Given the description of an element on the screen output the (x, y) to click on. 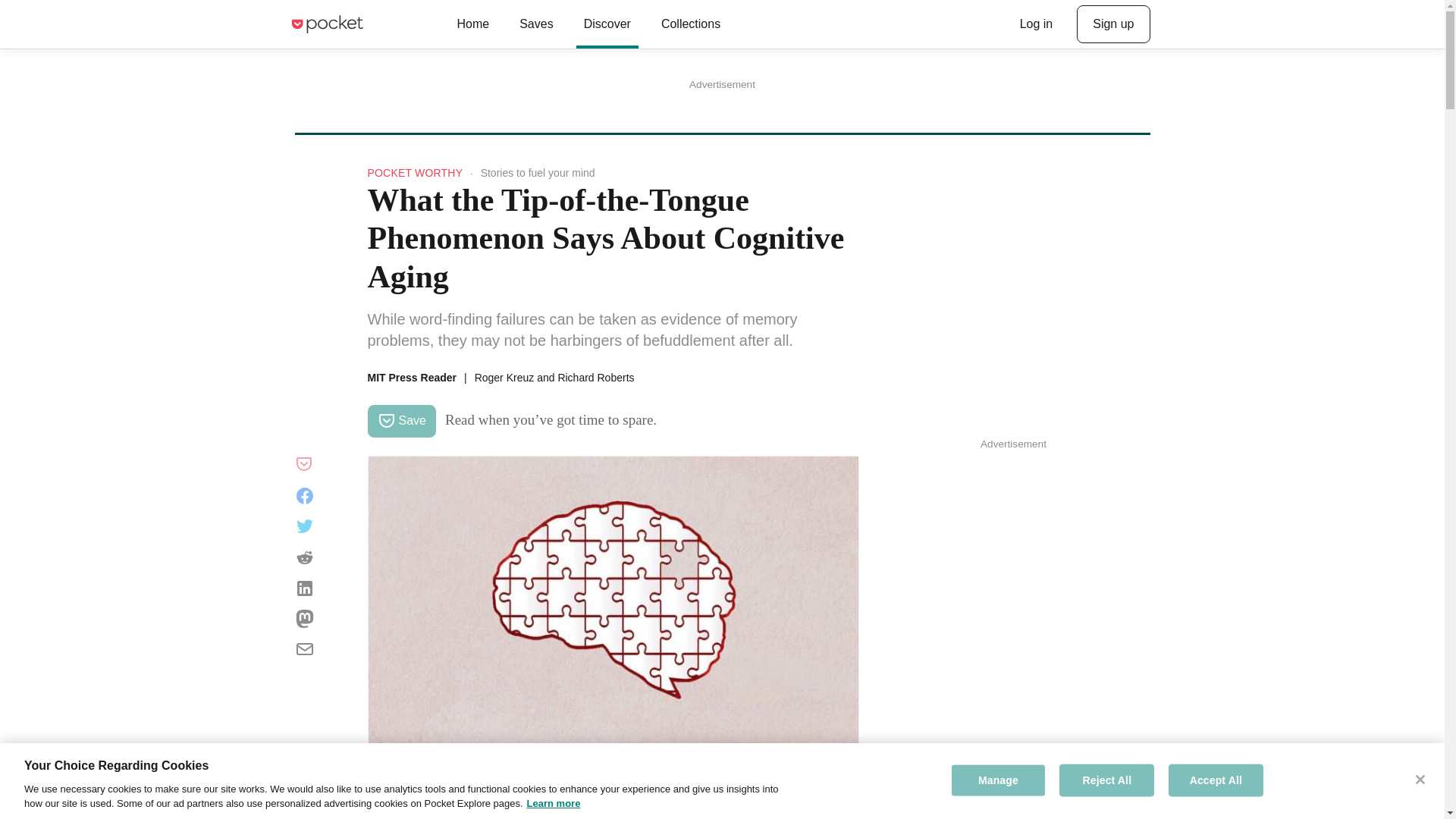
Pocket (326, 24)
Log in (1036, 24)
Save (400, 420)
Discover (607, 24)
Sign up (1113, 23)
Saves (535, 24)
MIT Press Reader (411, 377)
Home (472, 24)
Collections (690, 24)
